Given the description of an element on the screen output the (x, y) to click on. 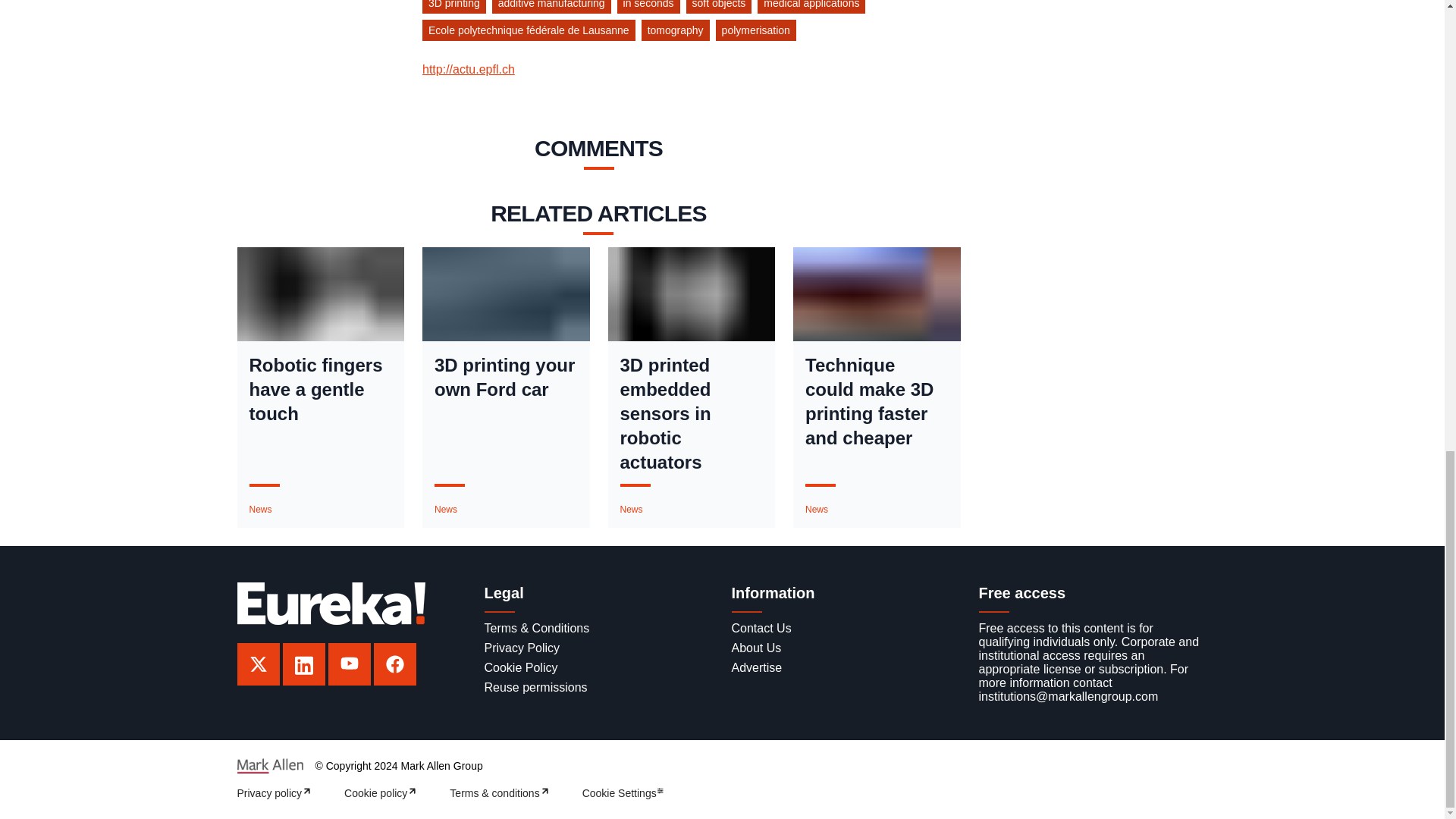
3D printing your own Ford car (505, 377)
3D printed embedded sensors in robotic actuators (691, 413)
Robotic fingers have a gentle touch (319, 388)
3D printing (457, 9)
polymerisation (759, 32)
additive manufacturing (554, 9)
News (445, 509)
medical applications (813, 9)
soft objects (721, 9)
News (259, 509)
